Given the description of an element on the screen output the (x, y) to click on. 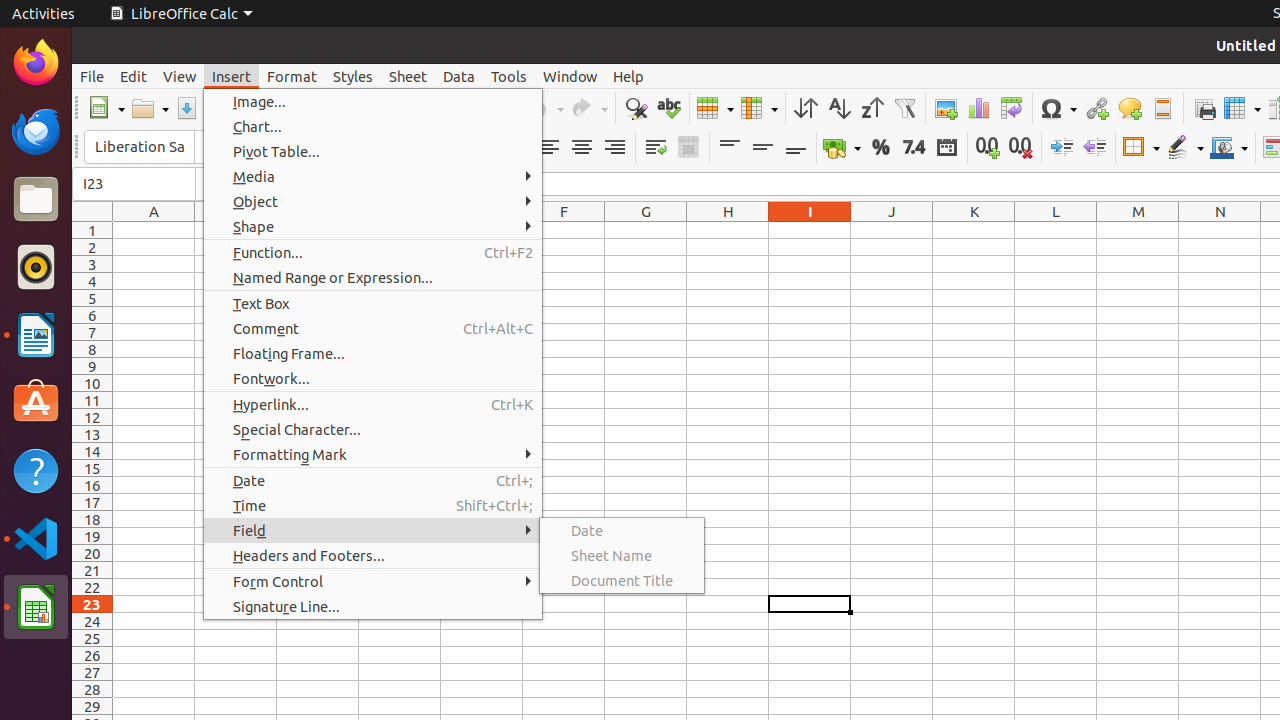
K1 Element type: table-cell (974, 230)
Shape Element type: menu (373, 226)
Data Element type: menu (459, 76)
